Given the description of an element on the screen output the (x, y) to click on. 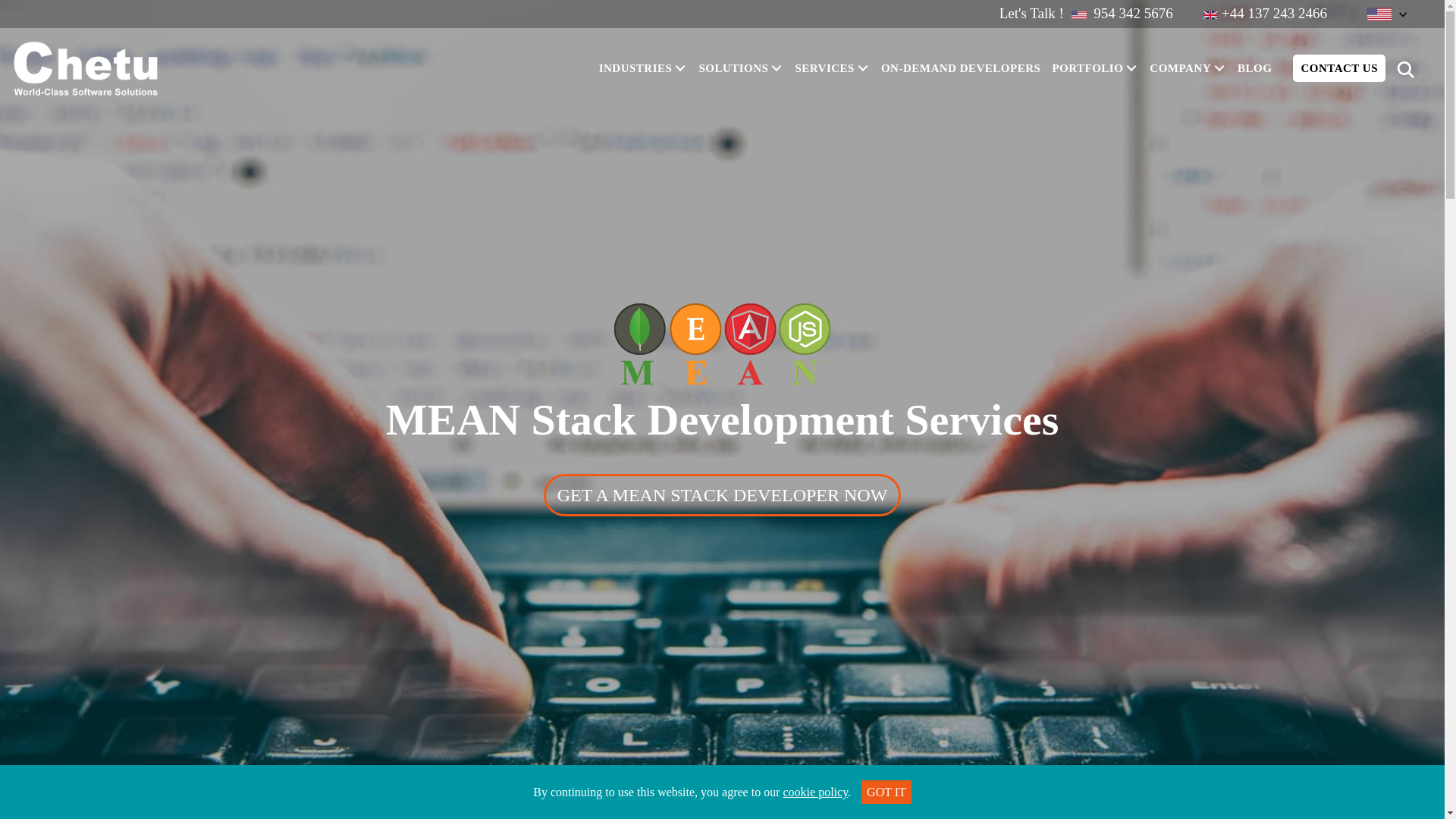
SOLUTIONS (742, 67)
INDUSTRIES (644, 67)
 954 342 5676 (1131, 13)
